Given the description of an element on the screen output the (x, y) to click on. 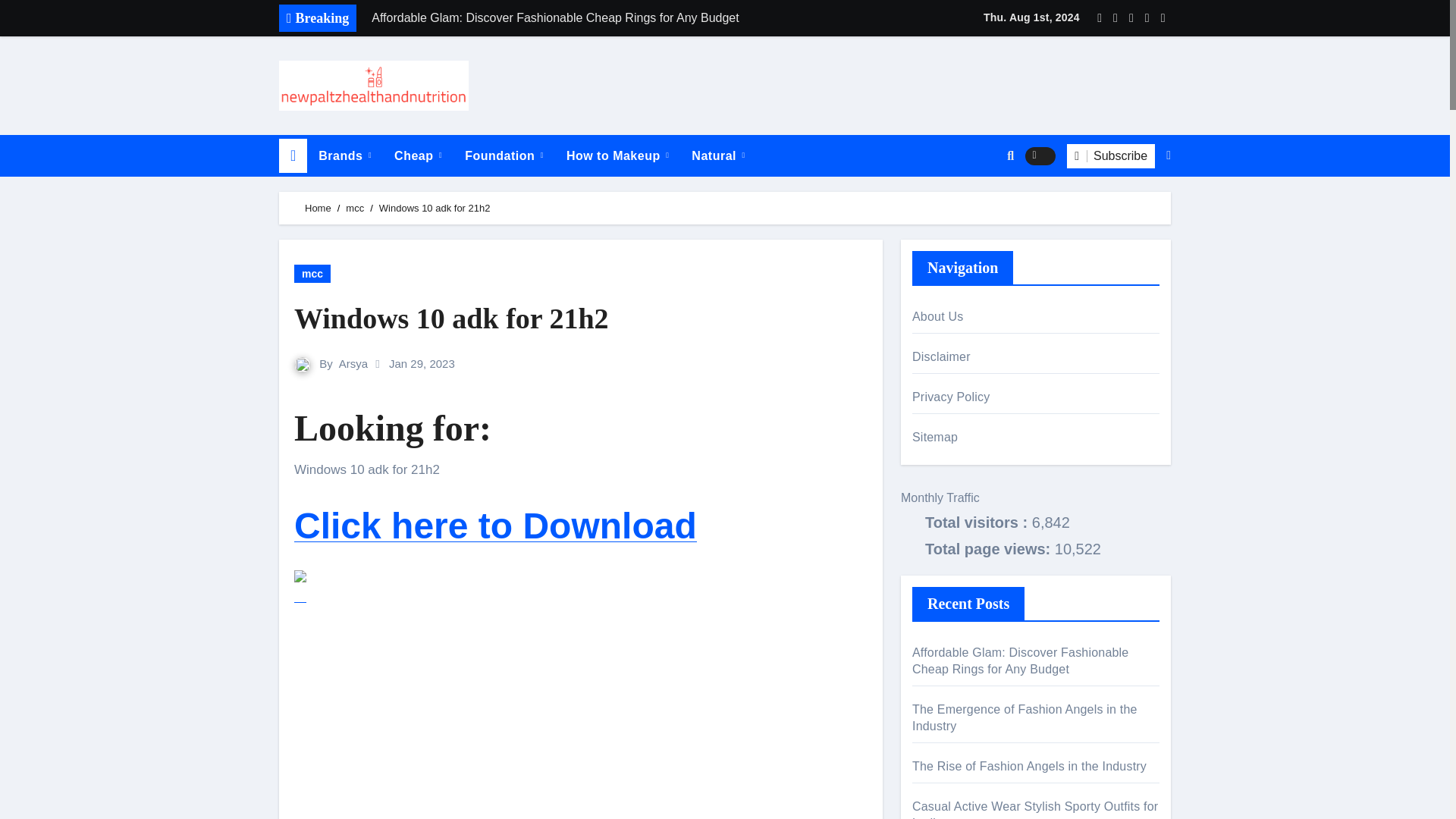
How to Makeup (616, 155)
Foundation (503, 155)
Brands (344, 155)
Foundation (503, 155)
Cheap (417, 155)
Cheap (417, 155)
Brands (344, 155)
